Given the description of an element on the screen output the (x, y) to click on. 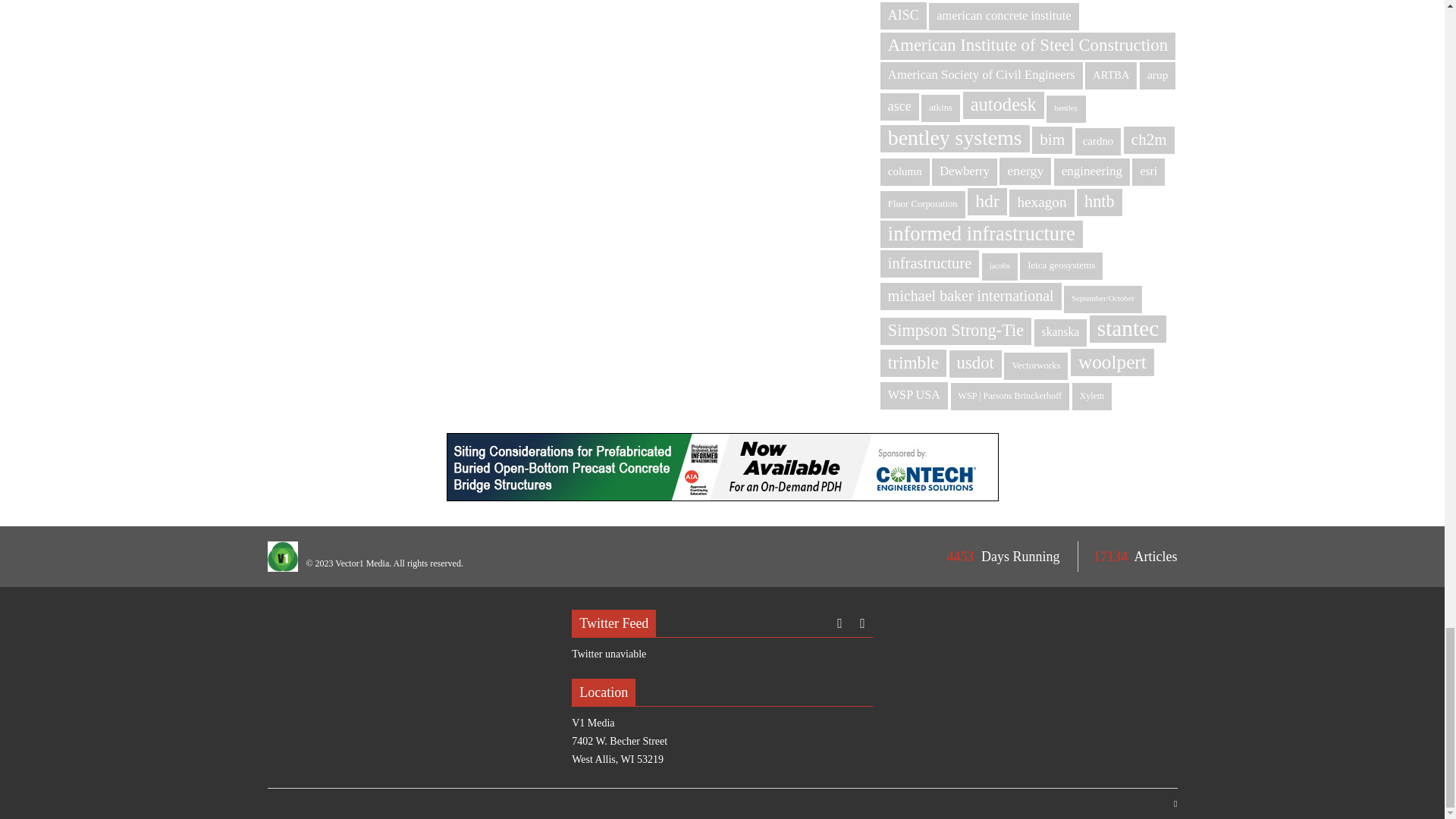
Contech PDH (721, 467)
